Given the description of an element on the screen output the (x, y) to click on. 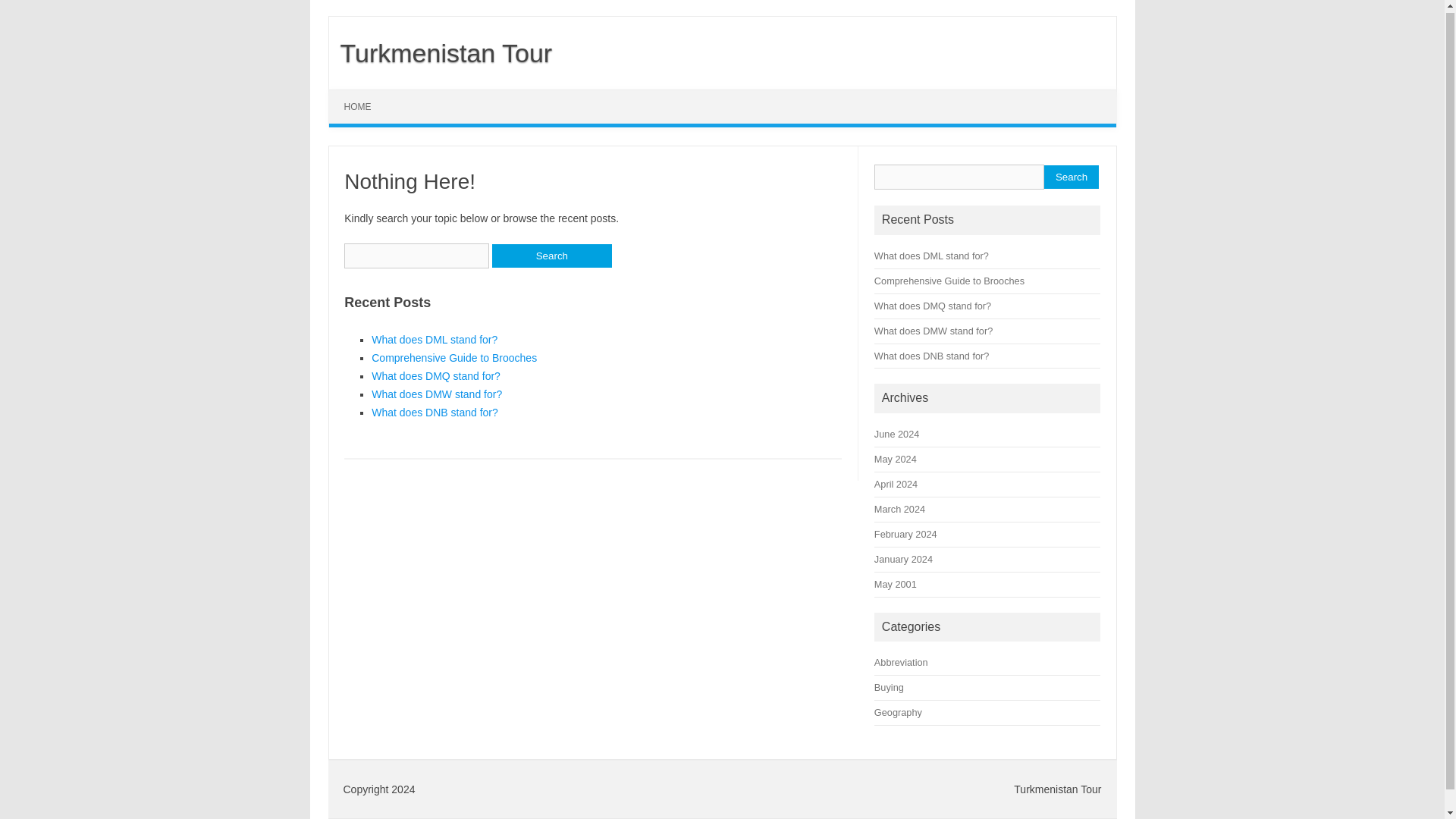
What does DML stand for? (434, 339)
Buying (889, 686)
May 2001 (896, 583)
What does DML stand for? (931, 255)
Search (1070, 177)
Turkmenistan Tour (441, 52)
Comprehensive Guide to Brooches (454, 357)
March 2024 (899, 509)
Skip to content (363, 94)
What does DMQ stand for? (933, 306)
Geography (898, 712)
June 2024 (896, 433)
Search (1070, 177)
Turkmenistan Tour (441, 52)
Search (551, 255)
